Given the description of an element on the screen output the (x, y) to click on. 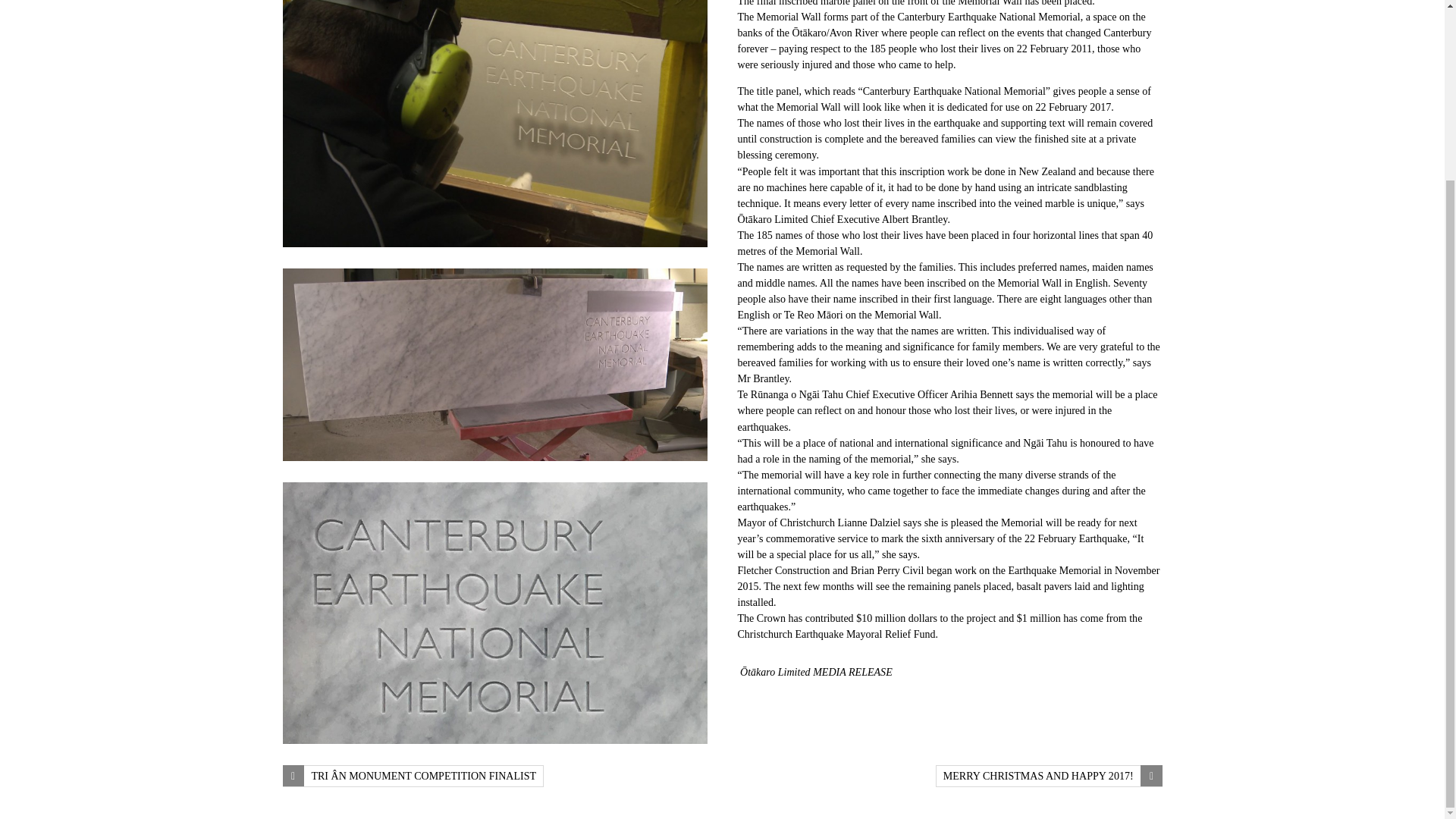
MERRY CHRISTMAS AND HAPPY 2017! (1048, 775)
